Given the description of an element on the screen output the (x, y) to click on. 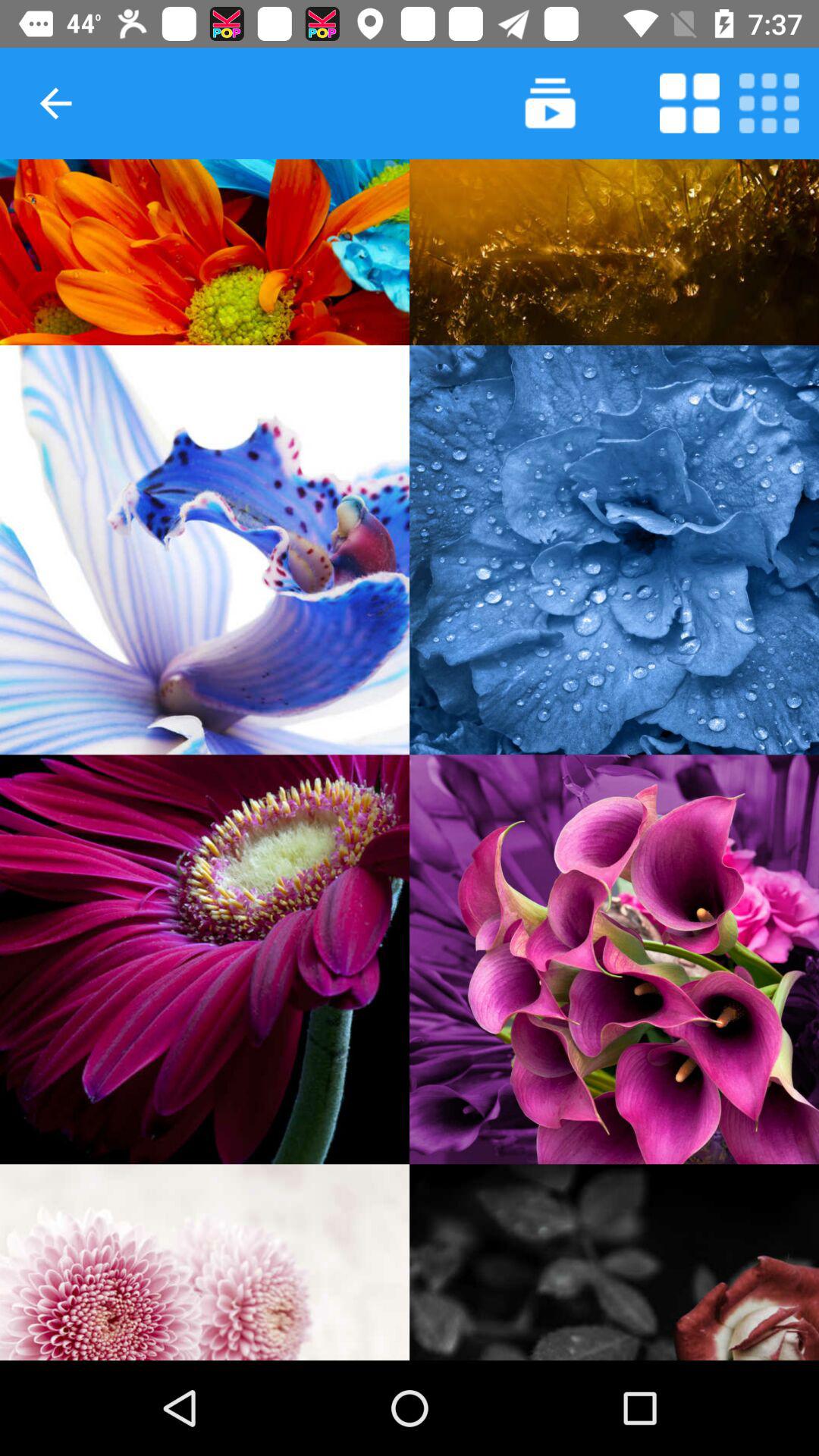
go to next pictures (550, 103)
